Given the description of an element on the screen output the (x, y) to click on. 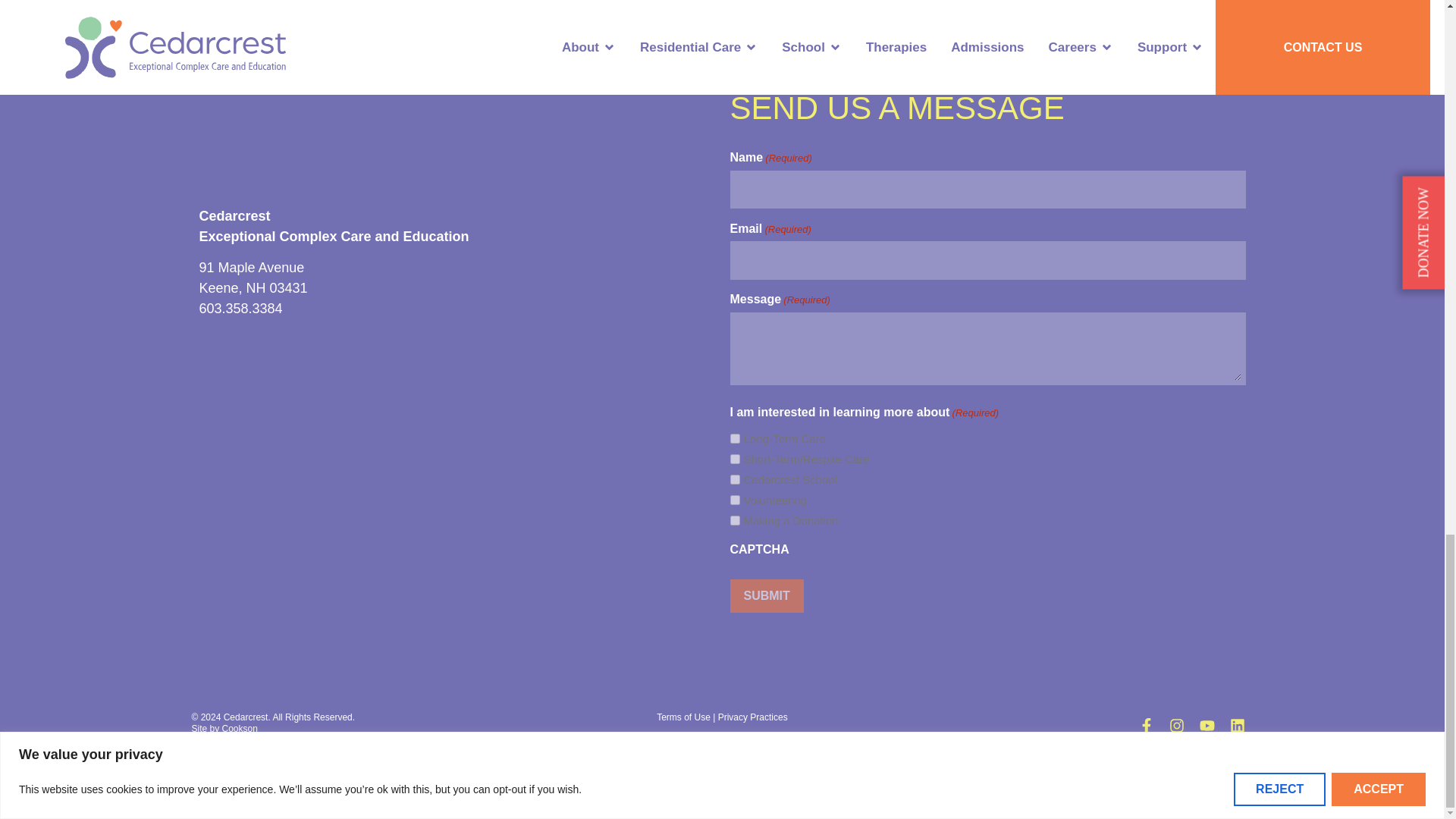
Long-Term Care (734, 438)
Making a Donation (734, 520)
Cedarcrest School (734, 479)
Volunteering (734, 500)
Submit (766, 595)
